Given the description of an element on the screen output the (x, y) to click on. 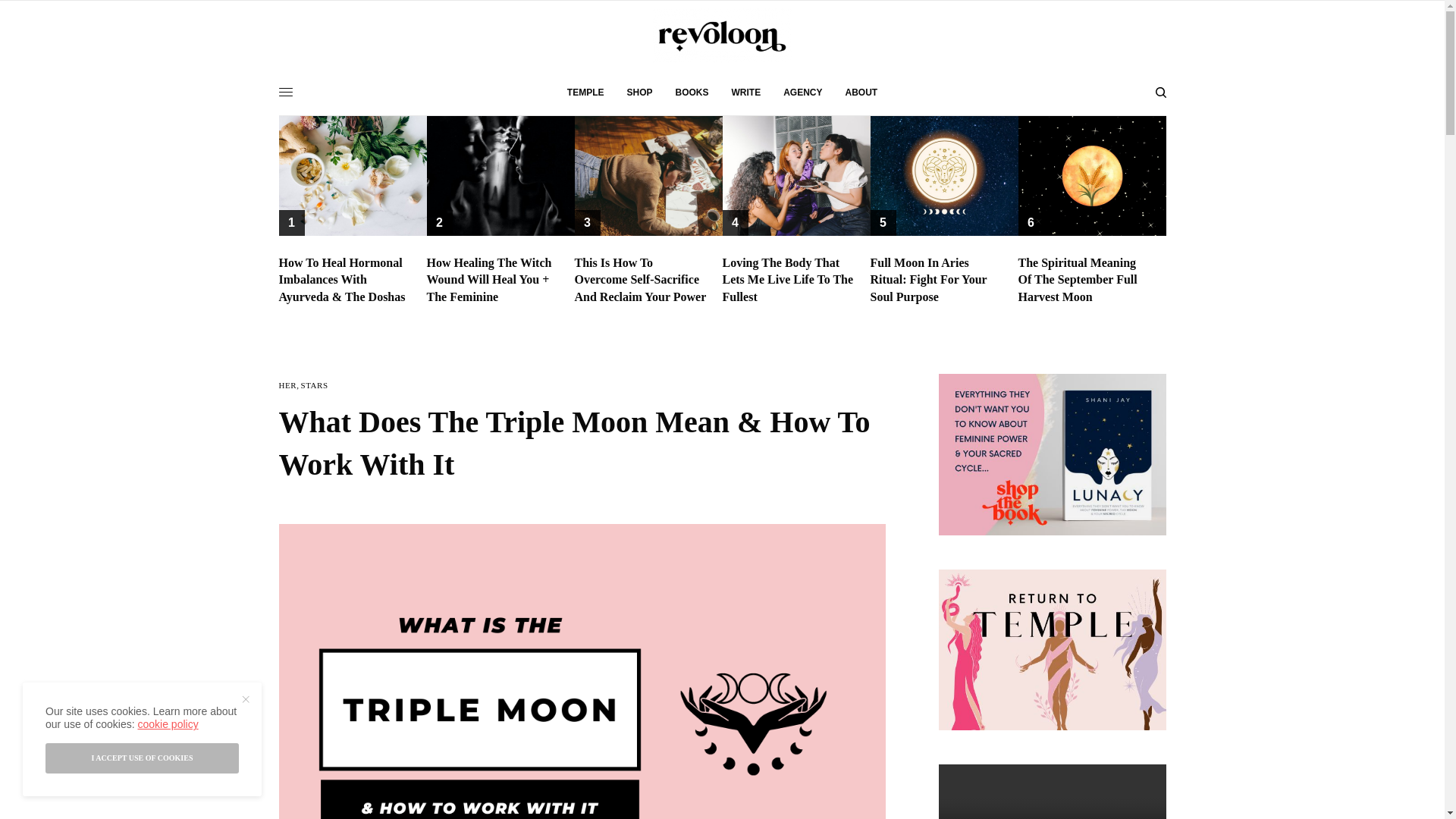
Full Moon In Aries Ritual: Fight For Your Soul Purpose (937, 279)
Loving The Body That Lets Me Live Life To The Fullest (789, 279)
Full Moon In Aries Ritual: Fight For Your Soul Purpose (937, 279)
Revoloon (722, 35)
Loving The Body That Lets Me Live Life To The Fullest (789, 279)
The Spiritual Meaning Of The September Full Harvest Moon (1084, 279)
The Spiritual Meaning Of The September Full Harvest Moon (1084, 279)
